Given the description of an element on the screen output the (x, y) to click on. 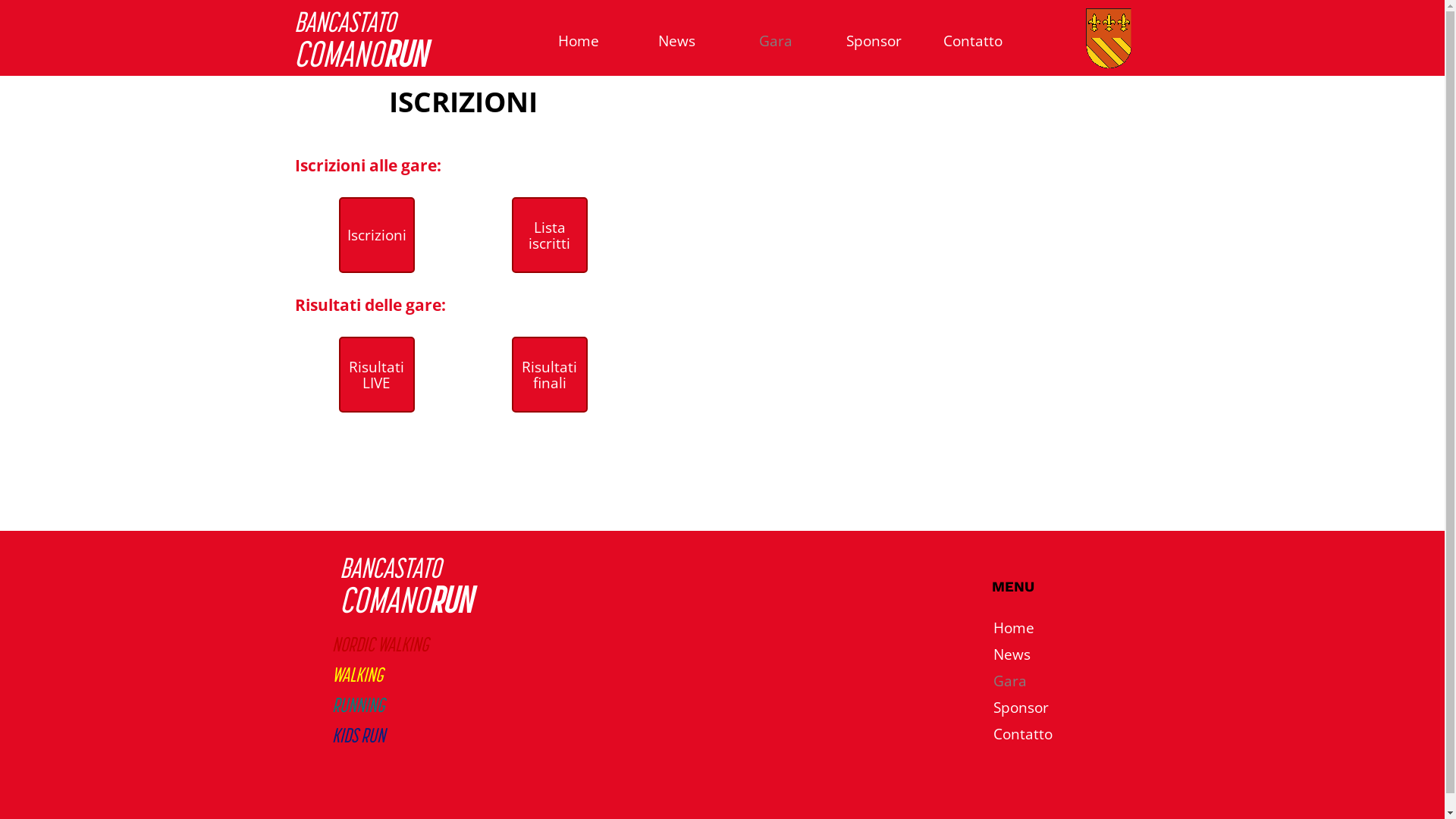
Iscrizioni Element type: text (376, 235)
News Element type: text (676, 40)
Sponsor Element type: text (874, 40)
Home Element type: text (578, 40)
Risultati finali Element type: text (548, 374)
Contatto Element type: text (972, 40)
Sponsor Element type: text (1042, 706)
Risultati
LIVE Element type: text (376, 374)
Contatto Element type: text (1042, 733)
News Element type: text (1042, 653)
Lista iscritti Element type: text (548, 235)
Home Element type: text (1042, 627)
